Given the description of an element on the screen output the (x, y) to click on. 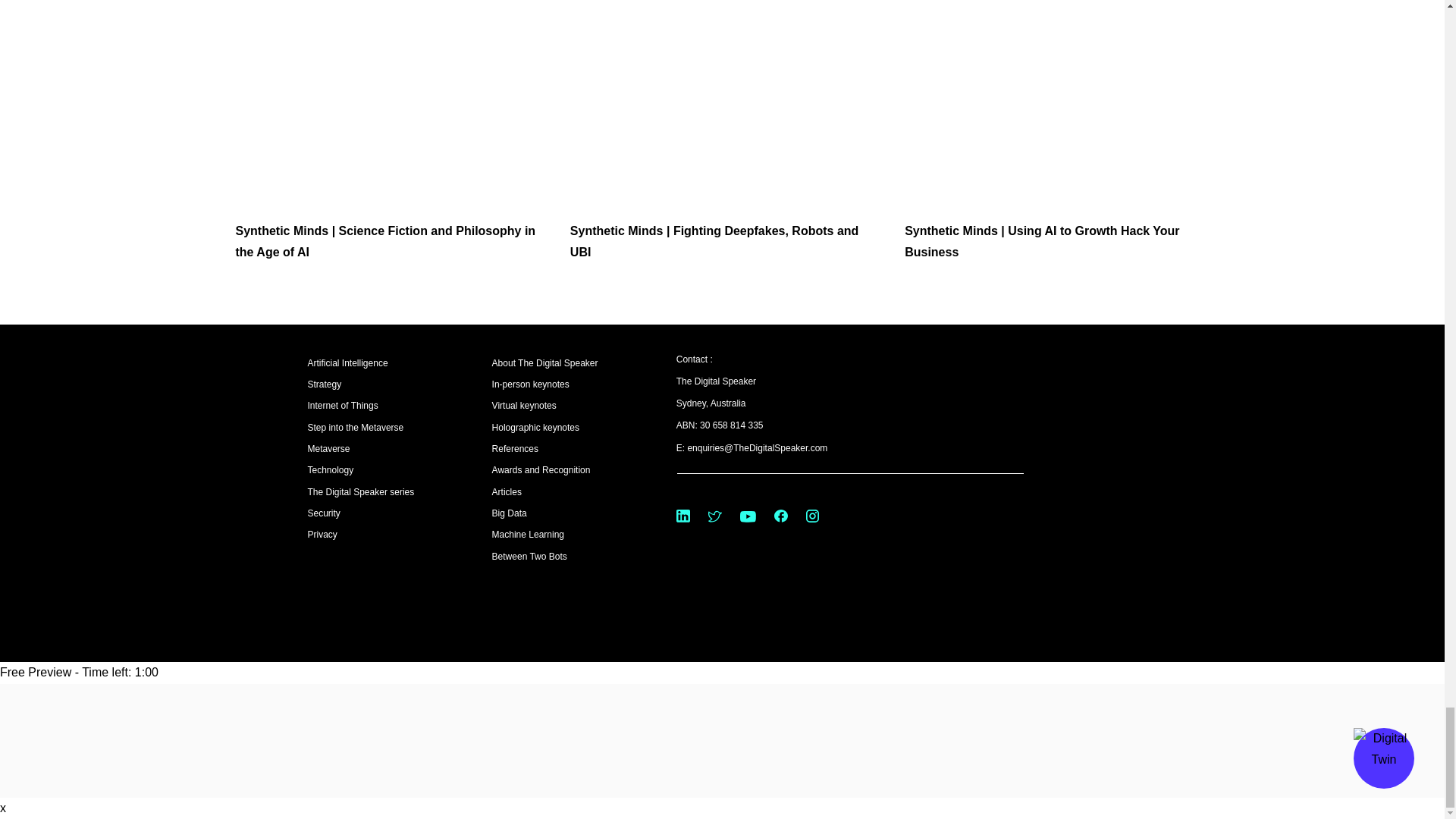
Instagram (812, 515)
Facebook (780, 515)
Youtube (747, 516)
Twitter (714, 516)
Linkedin (683, 515)
